Given the description of an element on the screen output the (x, y) to click on. 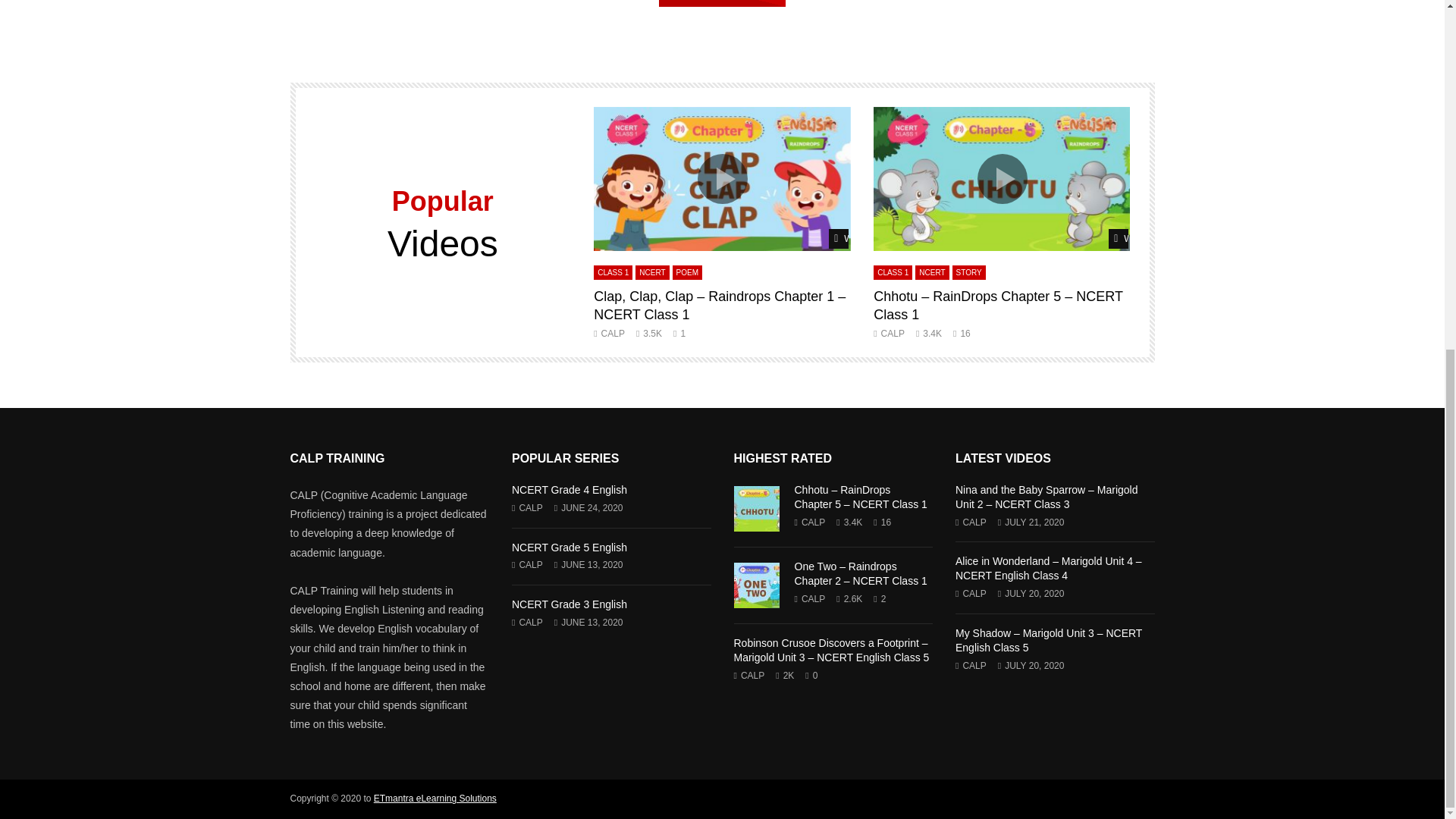
BACK TO HOMEPAGE (722, 2)
